Given the description of an element on the screen output the (x, y) to click on. 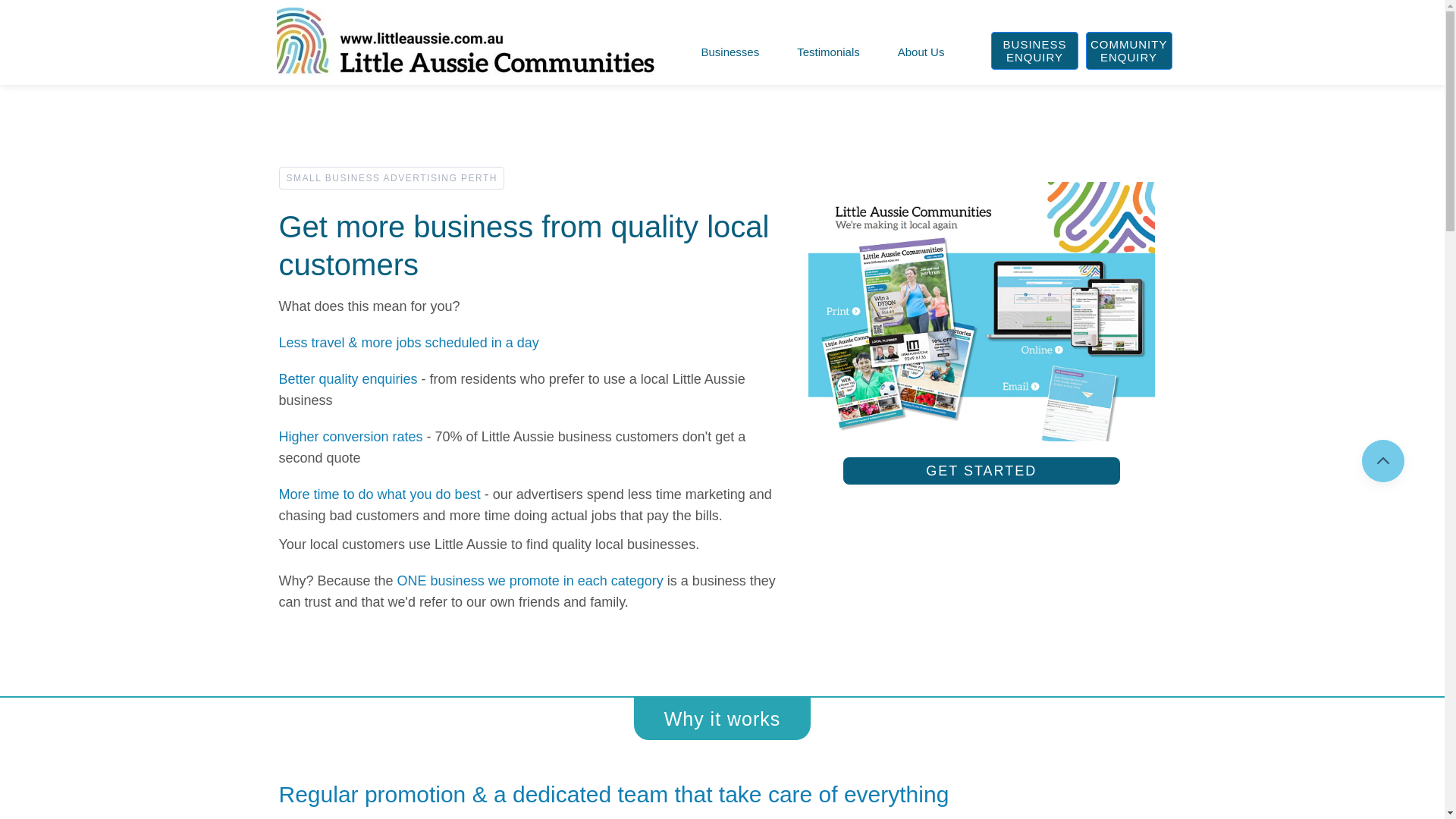
About Us Element type: text (921, 51)
Businesses Element type: text (730, 51)
COMMUNITY ENQUIRY Element type: text (1128, 50)
Testimonials Element type: text (828, 51)
BUSINESS ENQUIRY Element type: text (1034, 50)
GET STARTED Element type: text (981, 470)
